Given the description of an element on the screen output the (x, y) to click on. 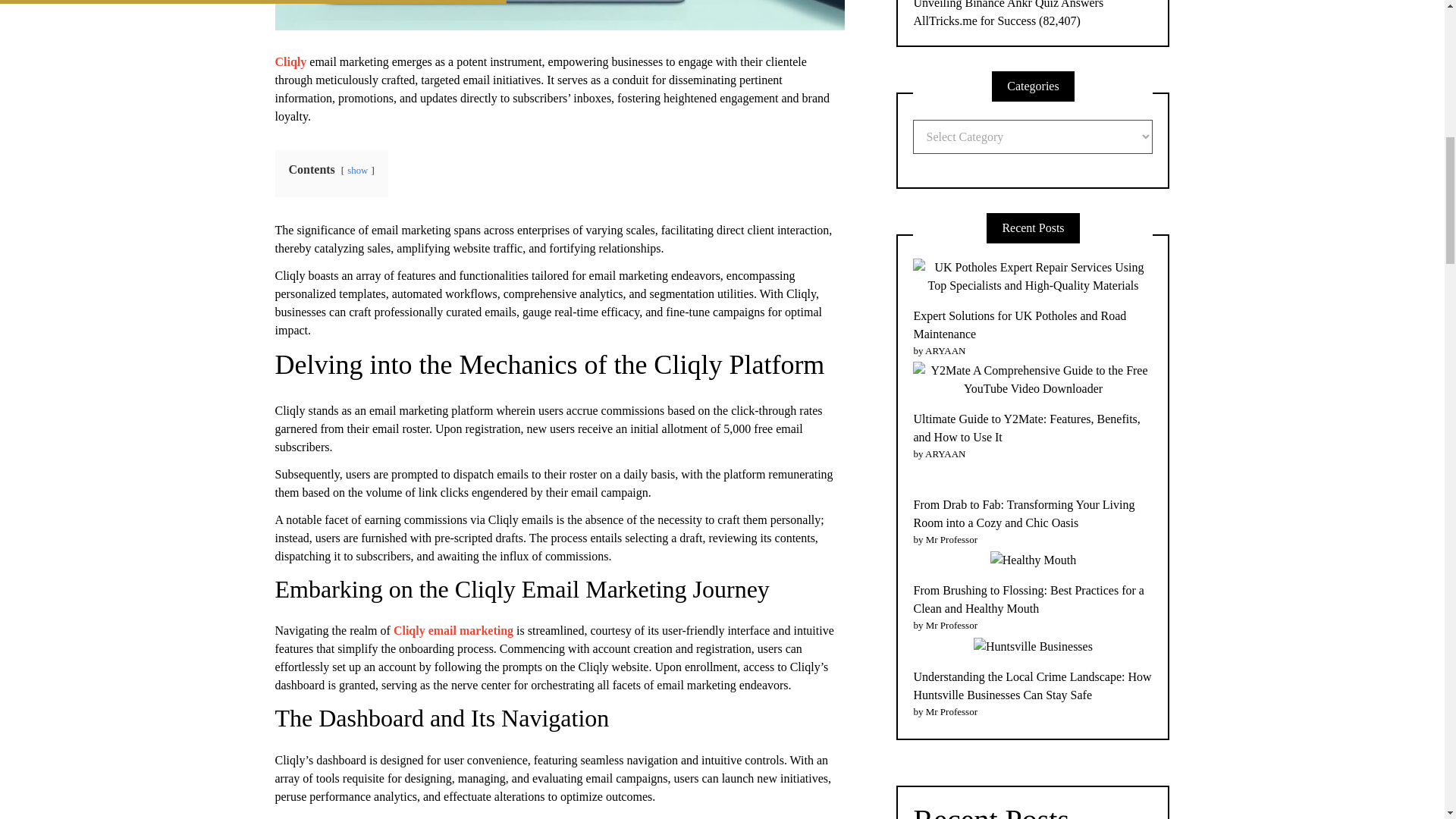
Cliqly (291, 61)
Cliqly email marketing (453, 630)
show (357, 170)
